Given the description of an element on the screen output the (x, y) to click on. 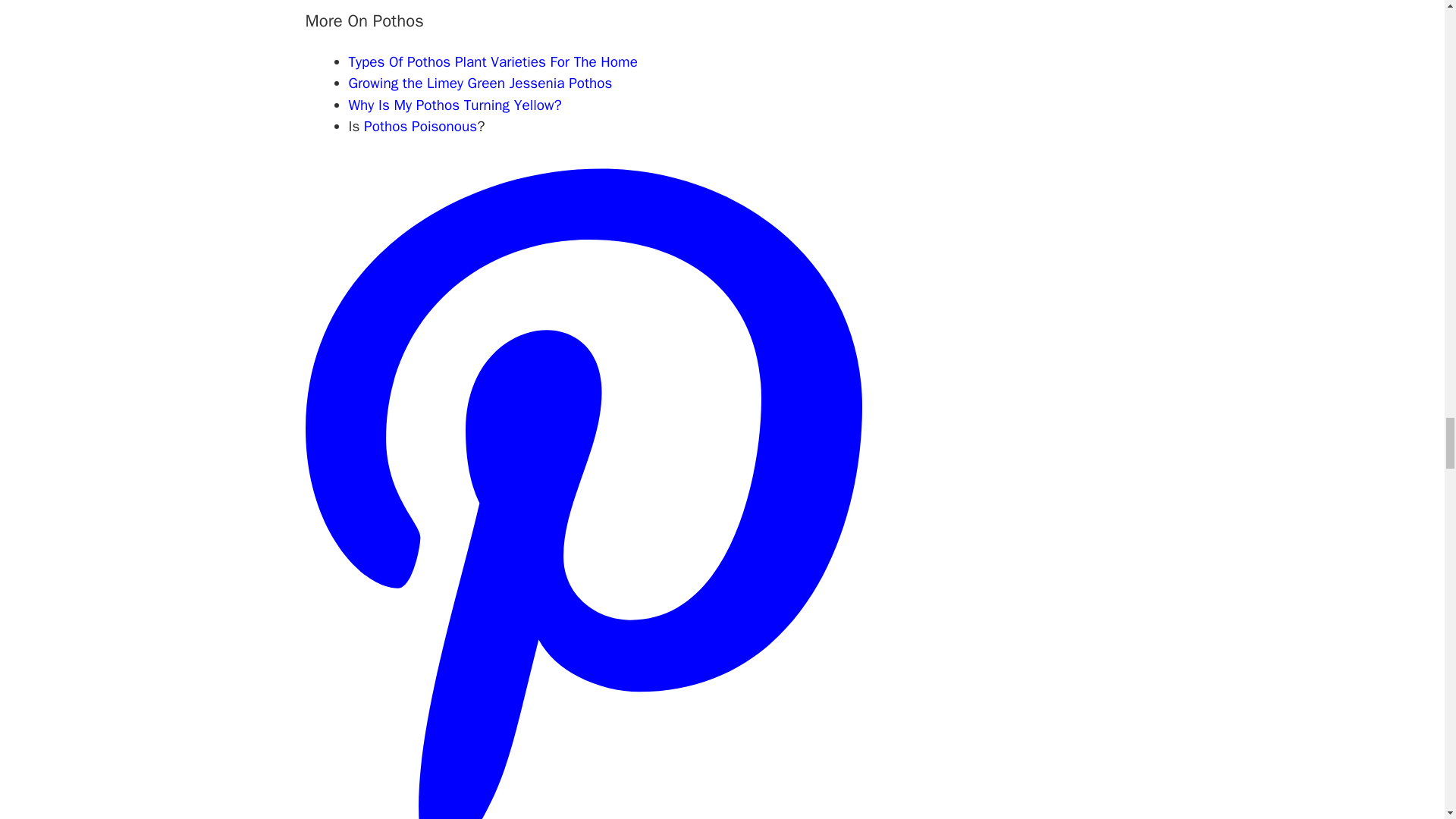
Pothos Poisonous (420, 126)
Why Is My Pothos Turning Yellow? (455, 105)
Growing the Limey Green Jessenia Pothos (480, 83)
Types Of Pothos Plant Varieties For The Home (493, 62)
